Given the description of an element on the screen output the (x, y) to click on. 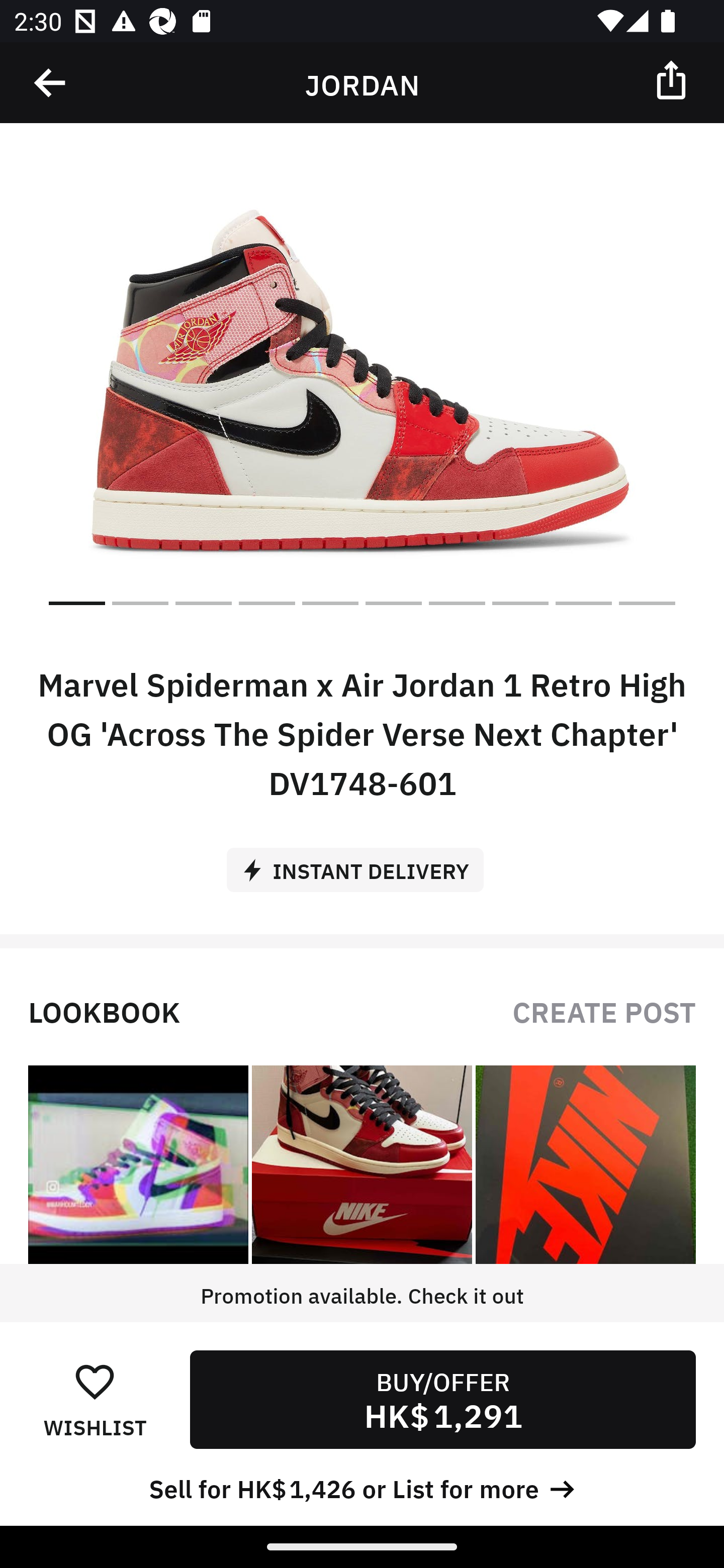
 (50, 83)
 (672, 79)
 INSTANT DELIVERY (362, 863)
CREATE POST (603, 1010)
BUY/OFFER HK$ 1,291 (442, 1399)
󰋕 (94, 1380)
Sell for HK$ 1,426 or List for more (361, 1486)
